Given the description of an element on the screen output the (x, y) to click on. 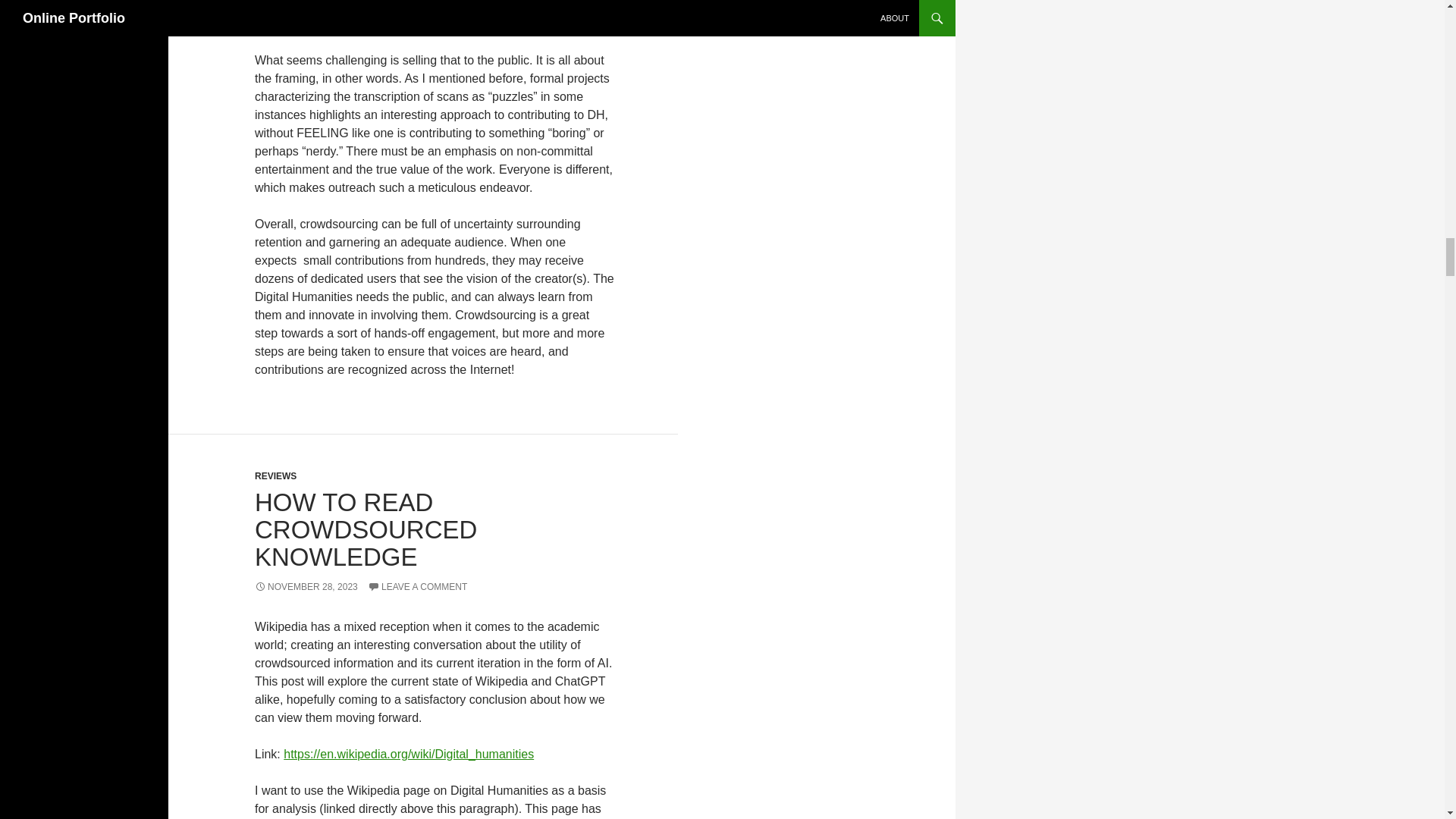
HOW TO READ CROWDSOURCED KNOWLEDGE (365, 529)
LEAVE A COMMENT (417, 586)
REVIEWS (275, 475)
NOVEMBER 28, 2023 (306, 586)
